Given the description of an element on the screen output the (x, y) to click on. 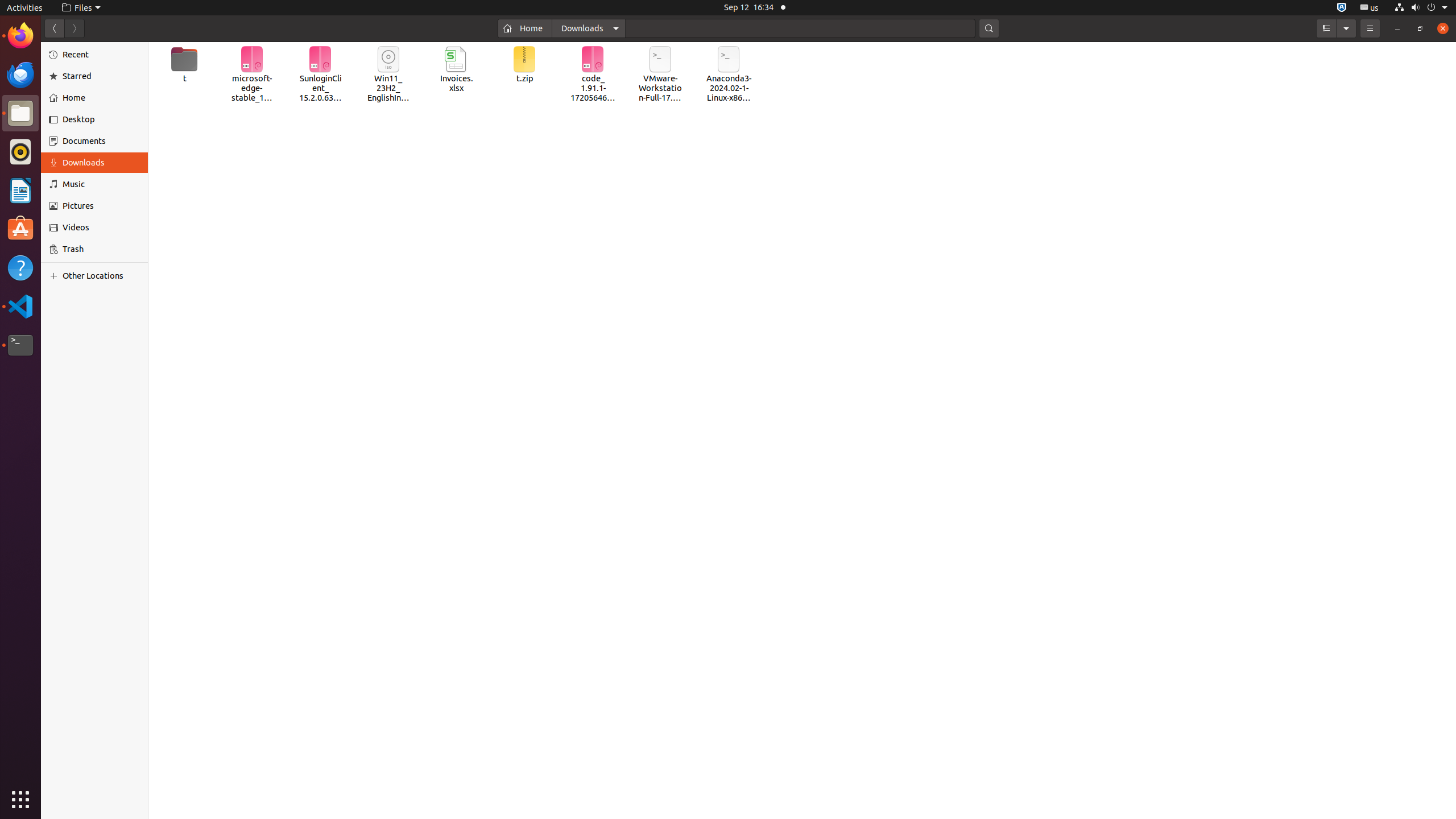
Other Locations Element type: label (100, 275)
Music Element type: label (100, 184)
Trash Element type: label (75, 108)
